Given the description of an element on the screen output the (x, y) to click on. 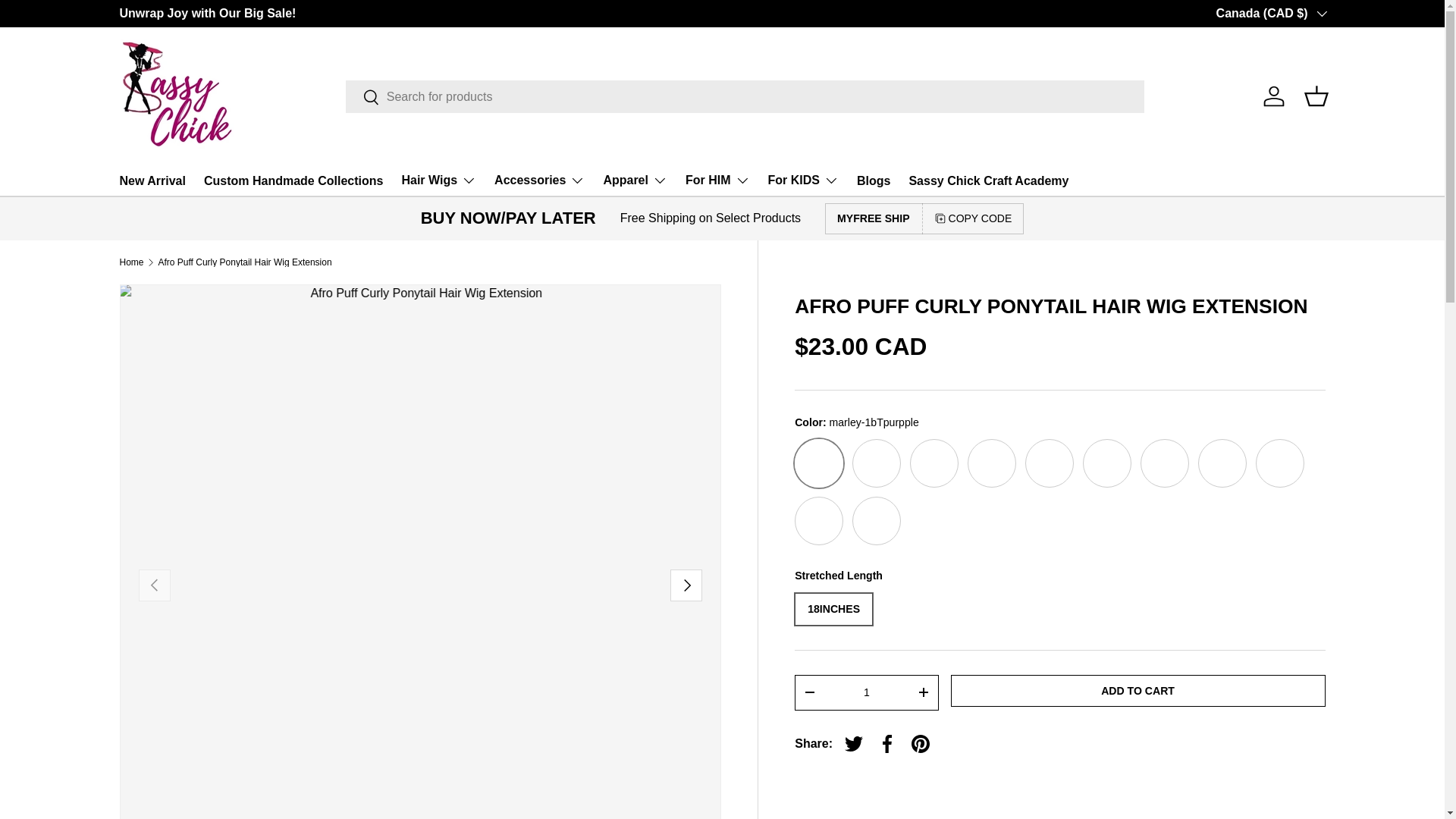
Hair Wigs (438, 180)
Custom Handmade Collections (292, 180)
Basket (1316, 96)
